Given the description of an element on the screen output the (x, y) to click on. 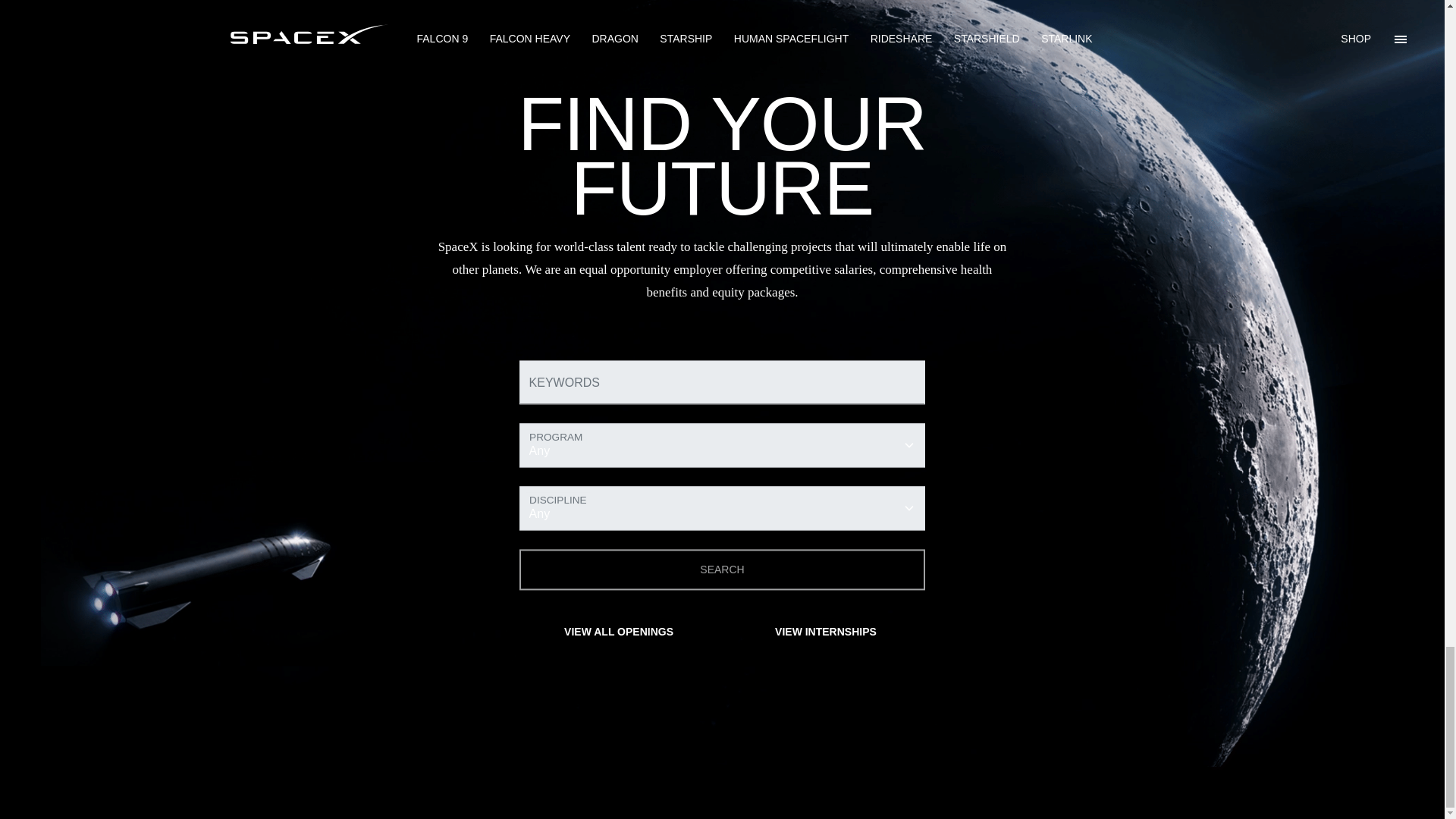
PRIVACY POLICY (727, 789)
FIND YOUR FUTURE (722, 669)
SUPPLIERS (824, 789)
